Given the description of an element on the screen output the (x, y) to click on. 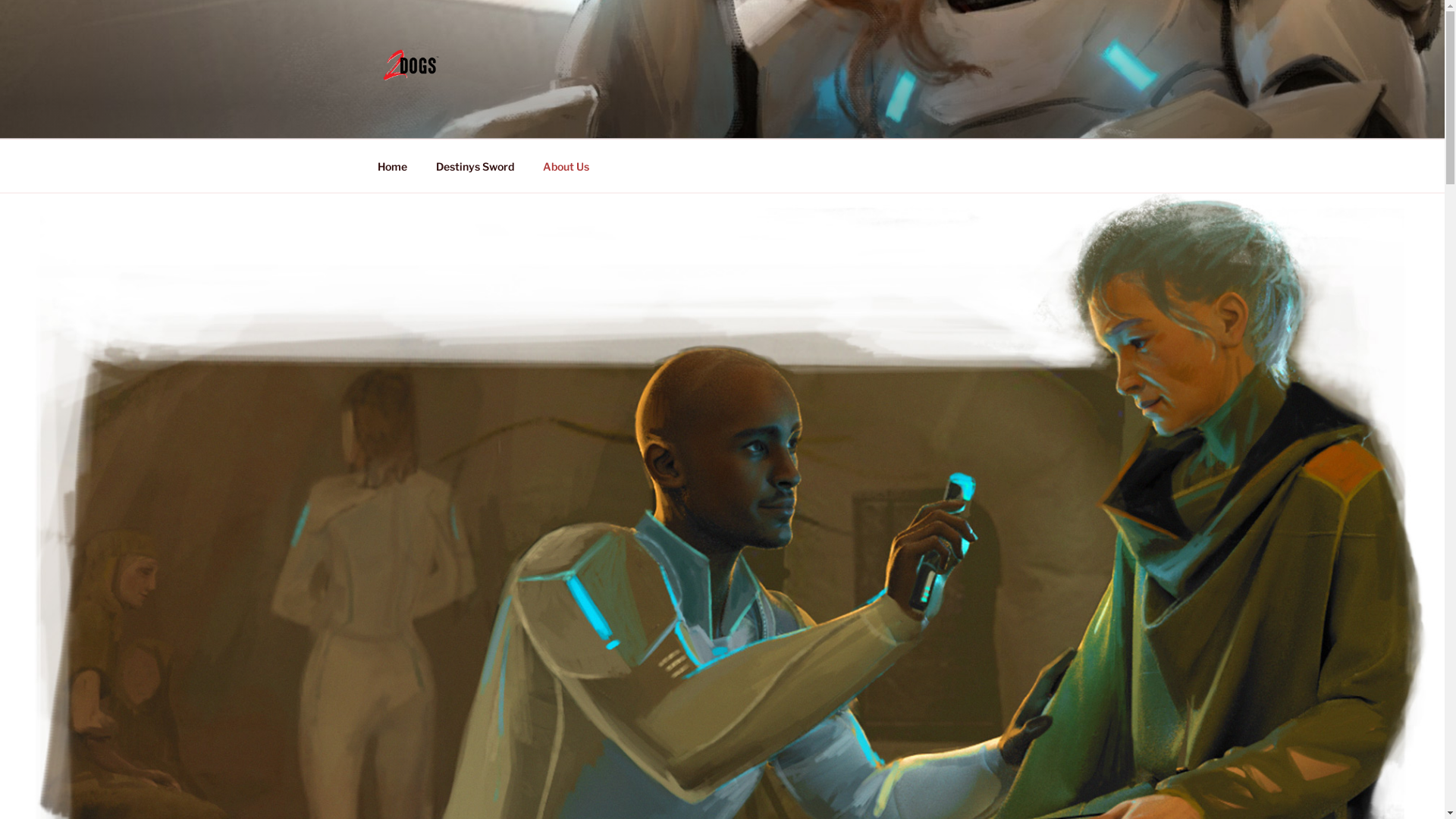
Destinys Sword Element type: text (475, 165)
Home Element type: text (392, 165)
About Us Element type: text (565, 165)
Skip to content Element type: text (0, 0)
